Given the description of an element on the screen output the (x, y) to click on. 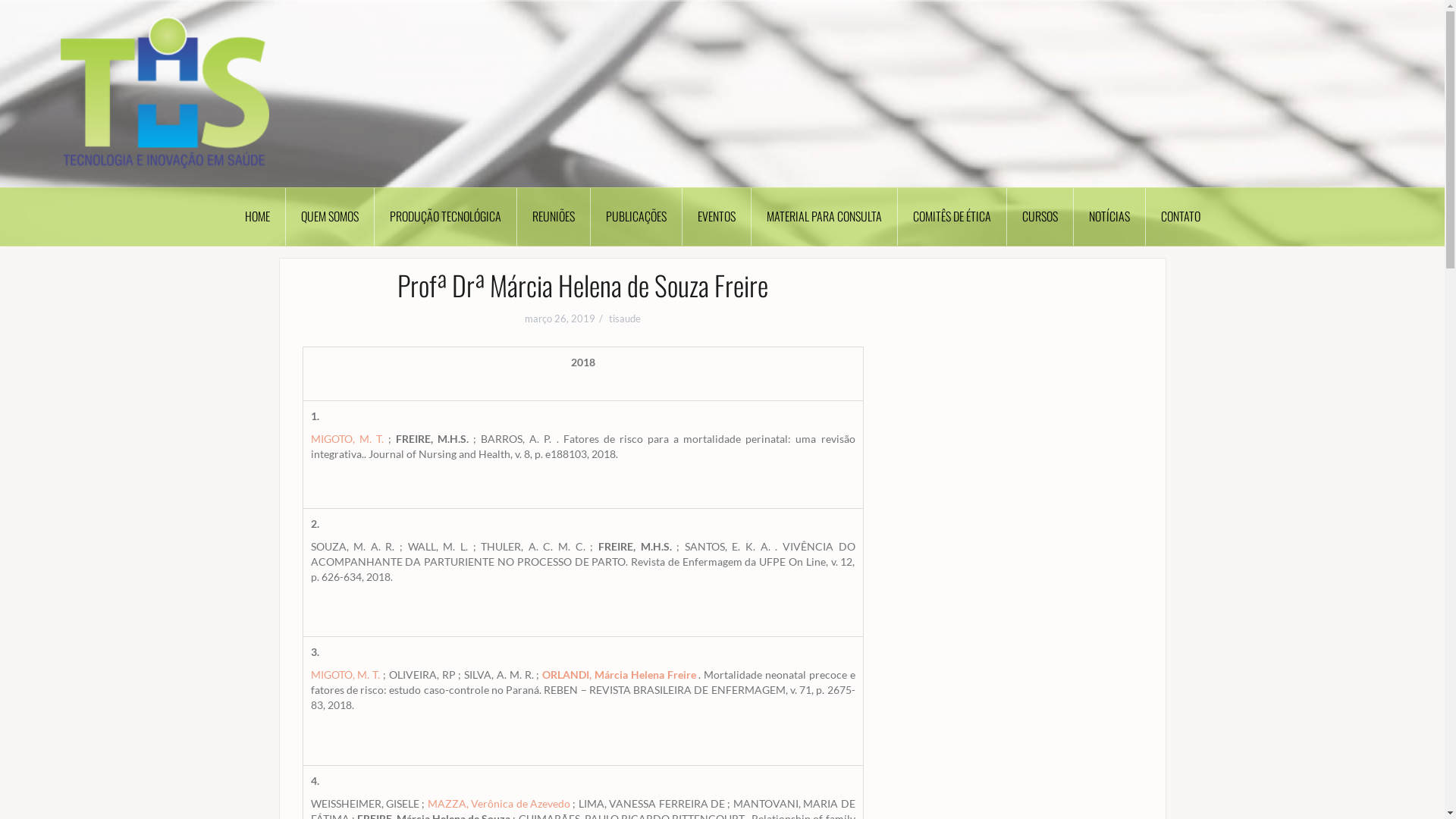
QUEM SOMOS Element type: text (329, 216)
MATERIAL PARA CONSULTA Element type: text (823, 216)
MIGOTO, M. T. Element type: text (345, 674)
CONTATO Element type: text (1179, 216)
tisaude Element type: text (624, 318)
HOME Element type: text (257, 216)
CURSOS Element type: text (1040, 216)
EVENTOS Element type: text (716, 216)
MIGOTO, M. T. Element type: text (346, 438)
